Given the description of an element on the screen output the (x, y) to click on. 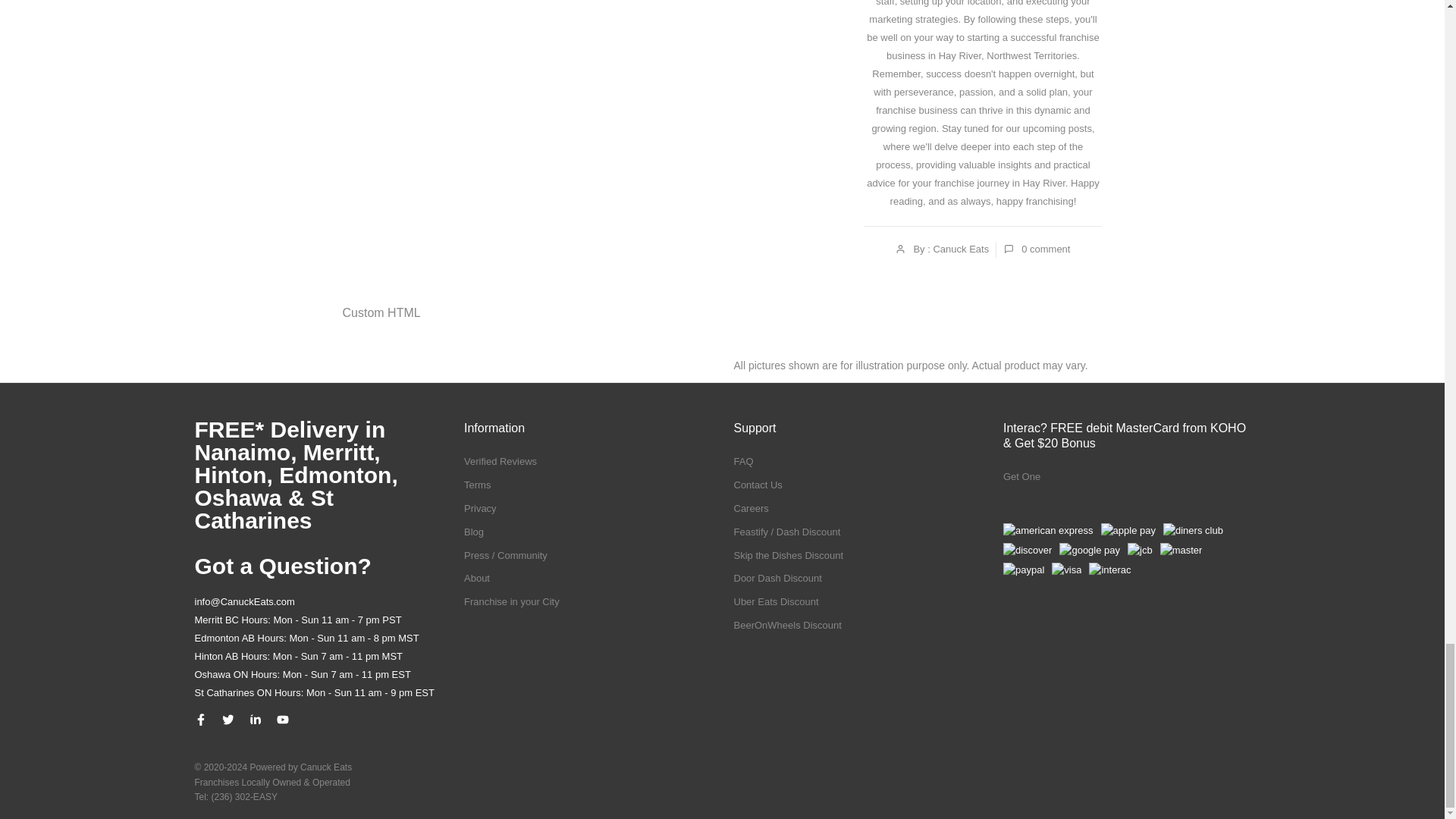
Follow on Facebook (199, 719)
Follow on Twitter (226, 719)
Follow on YouTube (282, 719)
Follow on Linkedin (254, 719)
